Given the description of an element on the screen output the (x, y) to click on. 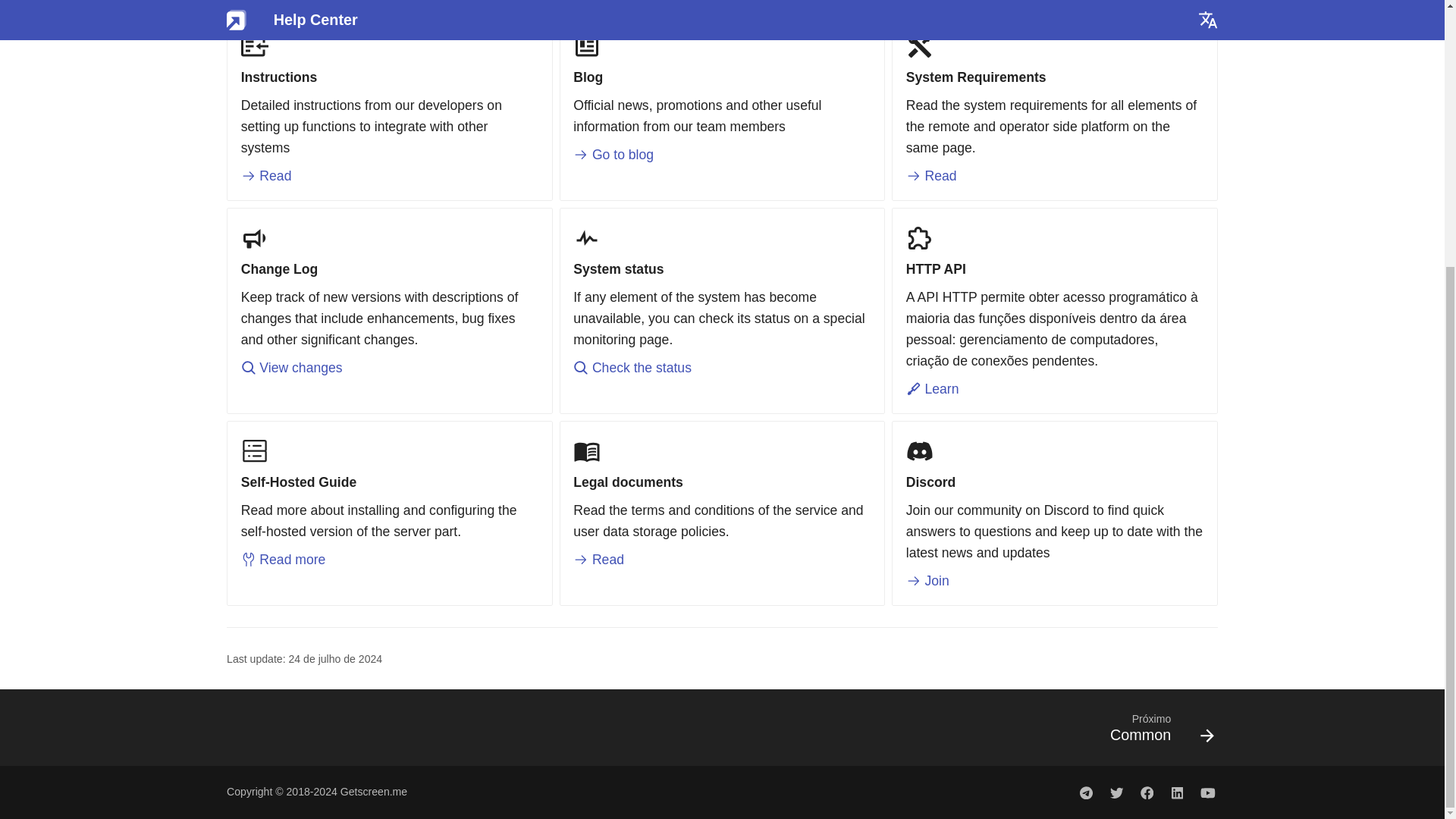
Read (930, 175)
Join (927, 580)
Read (266, 175)
Check the status (632, 367)
www.linkedin.com (1177, 791)
Read more (283, 559)
Read (598, 559)
t.me (1086, 791)
Go to blog (613, 154)
twitter.com (1116, 791)
